Given the description of an element on the screen output the (x, y) to click on. 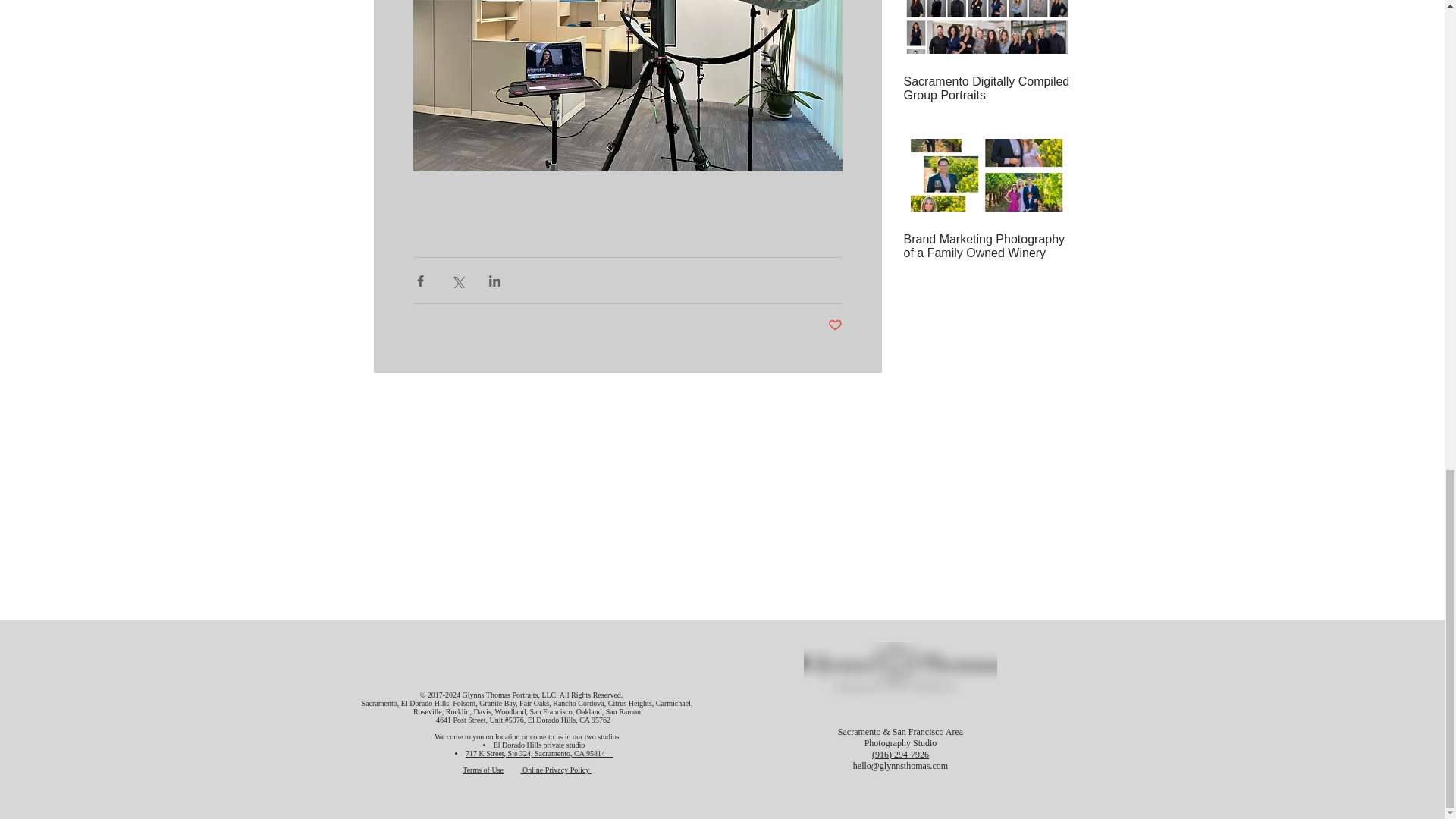
Sacramento Digitally Compiled Group Portraits (987, 88)
 Online Privacy Policy  (555, 769)
Terms of Use (483, 769)
Brand Marketing Photography of a Family Owned Winery (987, 246)
Post not marked as liked (835, 325)
717 K Street, Ste 324, Sacramento, CA 95814     (538, 753)
